Given the description of an element on the screen output the (x, y) to click on. 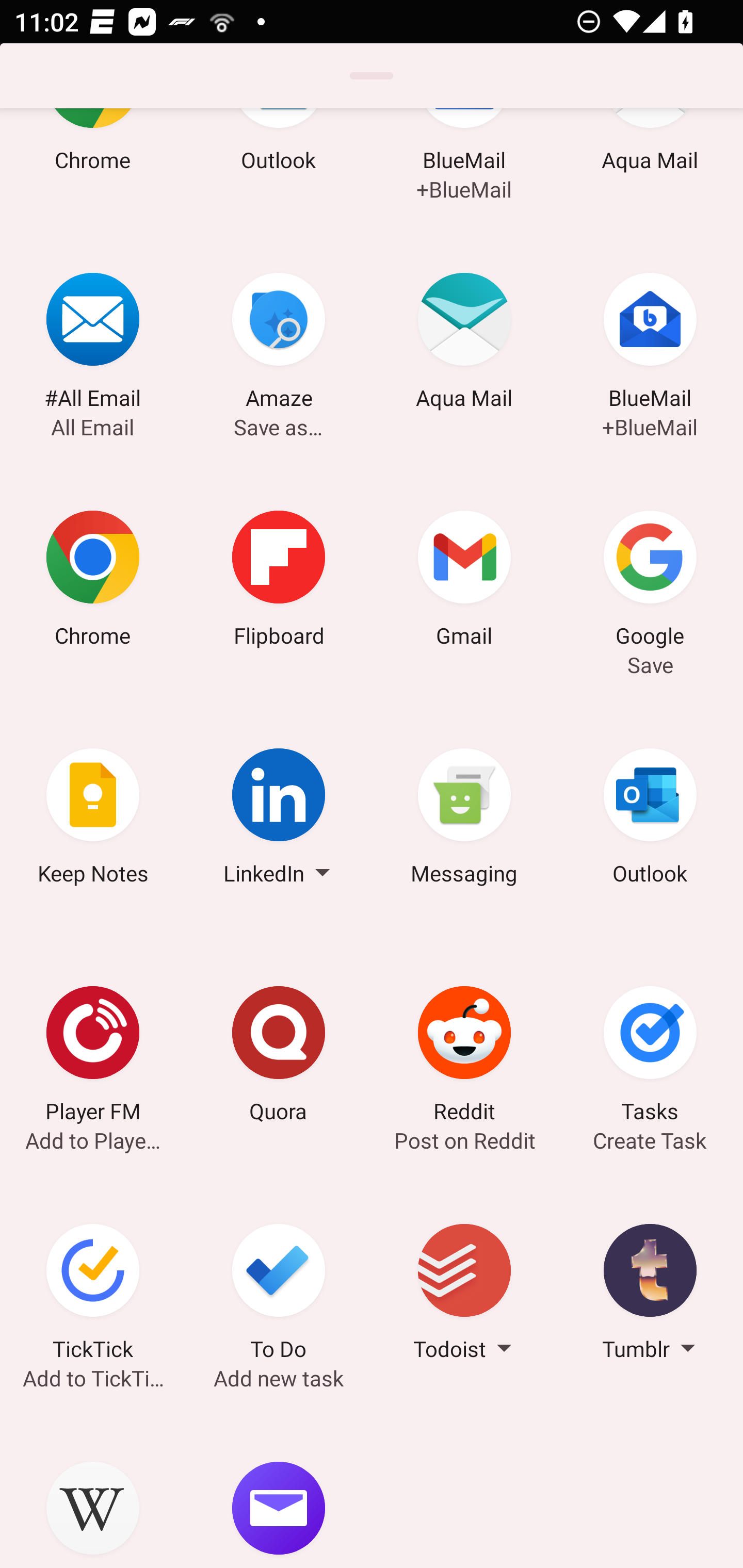
Chrome (92, 166)
Outlook (278, 166)
BlueMail +BlueMail (464, 166)
Aqua Mail (650, 166)
#All Email All Email (92, 343)
Amaze Save as… (278, 343)
Aqua Mail (464, 343)
BlueMail +BlueMail (650, 343)
Chrome (92, 581)
Flipboard (278, 581)
Gmail (464, 581)
Google Save (650, 581)
Keep Notes (92, 819)
LinkedIn (278, 819)
Messaging (464, 819)
Outlook (650, 819)
Player FM Add to Player FM (92, 1057)
Quora (278, 1057)
Reddit Post on Reddit (464, 1057)
Tasks Create Task (650, 1057)
TickTick Add to TickTick (92, 1295)
To Do Add new task (278, 1295)
Todoist (464, 1295)
Tumblr (650, 1295)
